Given the description of an element on the screen output the (x, y) to click on. 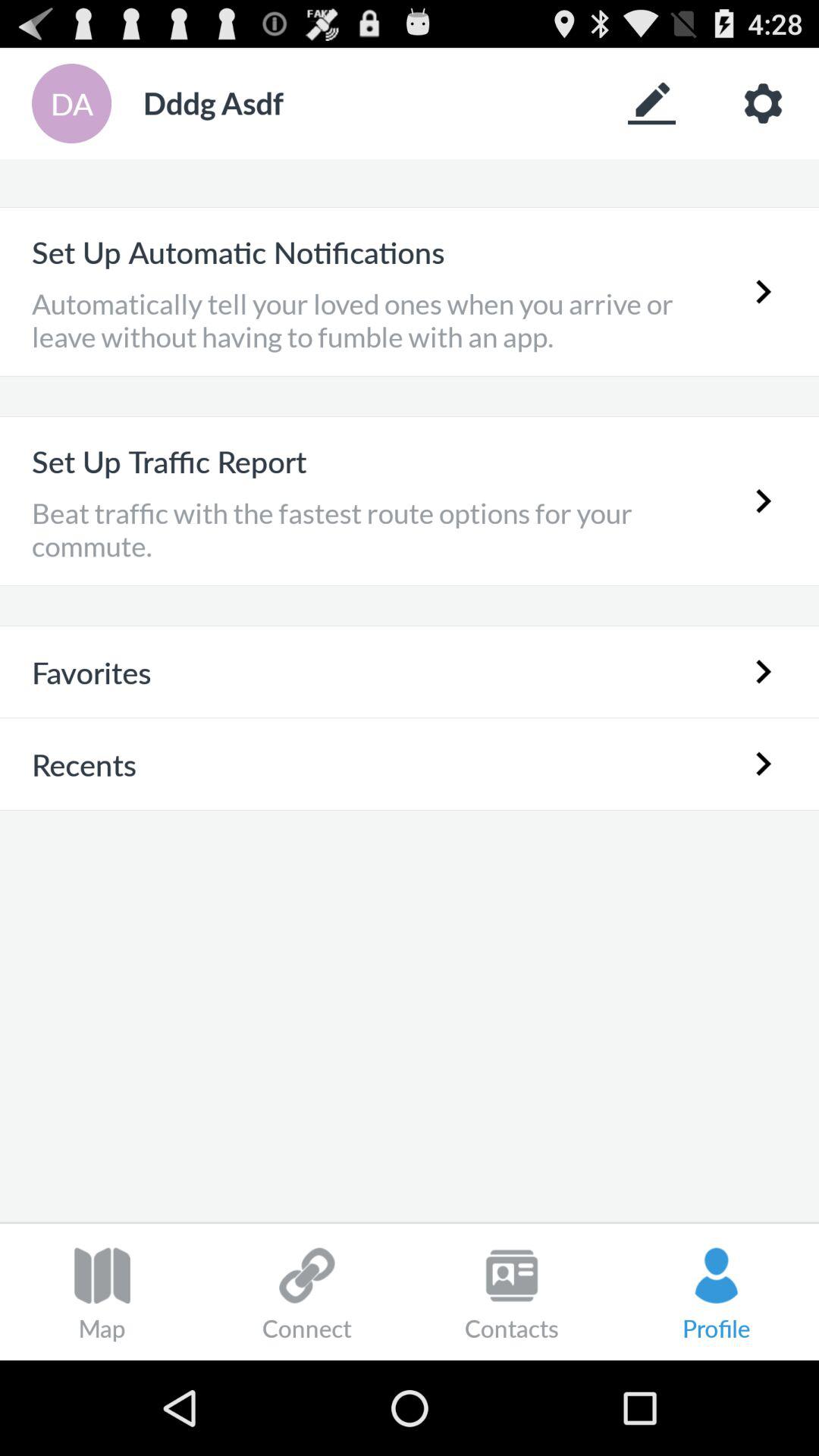
review settings (763, 103)
